Given the description of an element on the screen output the (x, y) to click on. 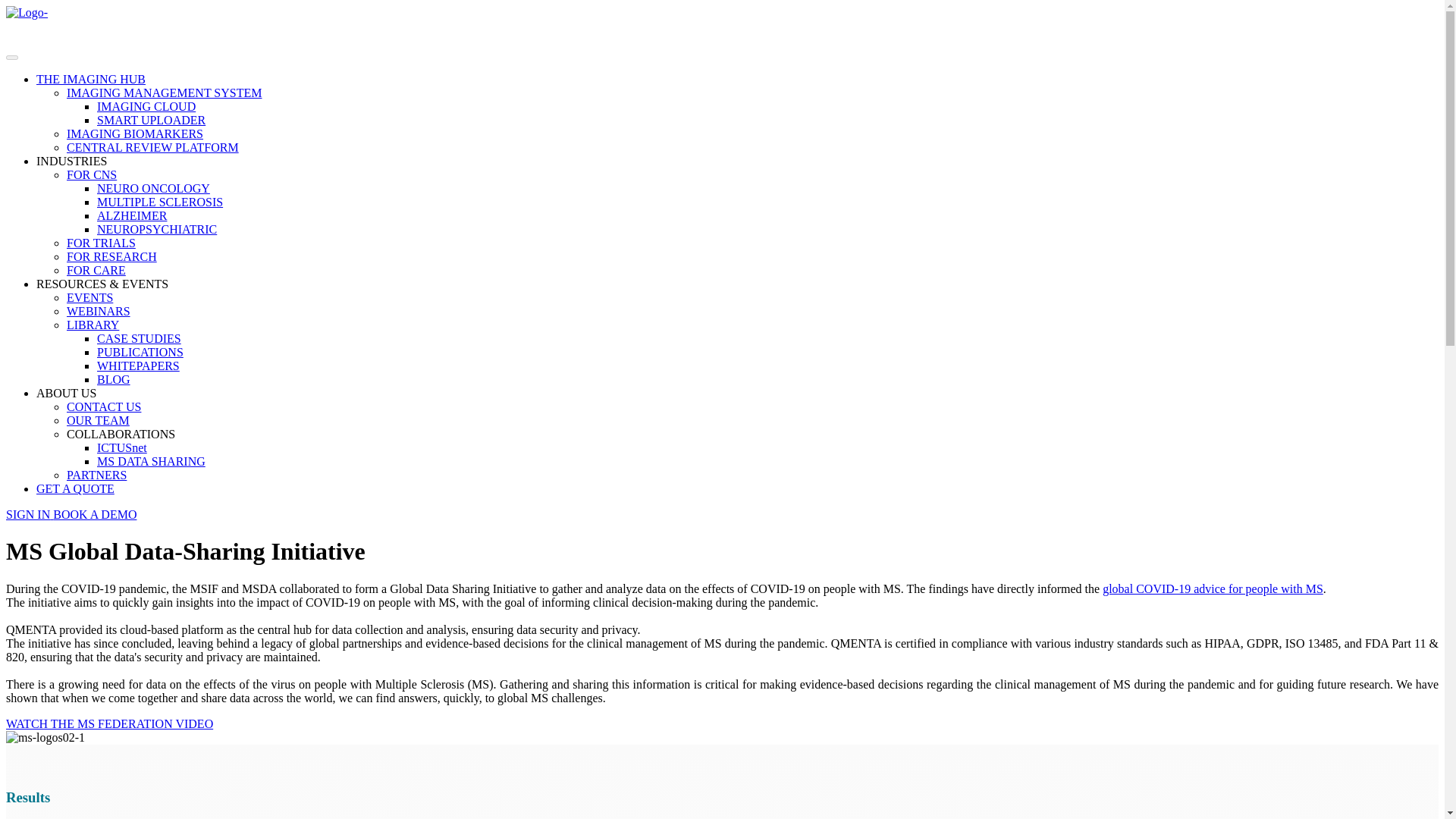
SMART UPLOADER (151, 119)
INDUSTRIES (71, 160)
FOR CNS (91, 174)
BLOG (114, 379)
ICTUSnet (122, 447)
ALZHEIMER (132, 215)
THE IMAGING HUB (90, 78)
NEUROPSYCHIATRIC (156, 228)
CONTACT US (103, 406)
LIBRARY (92, 324)
